Given the description of an element on the screen output the (x, y) to click on. 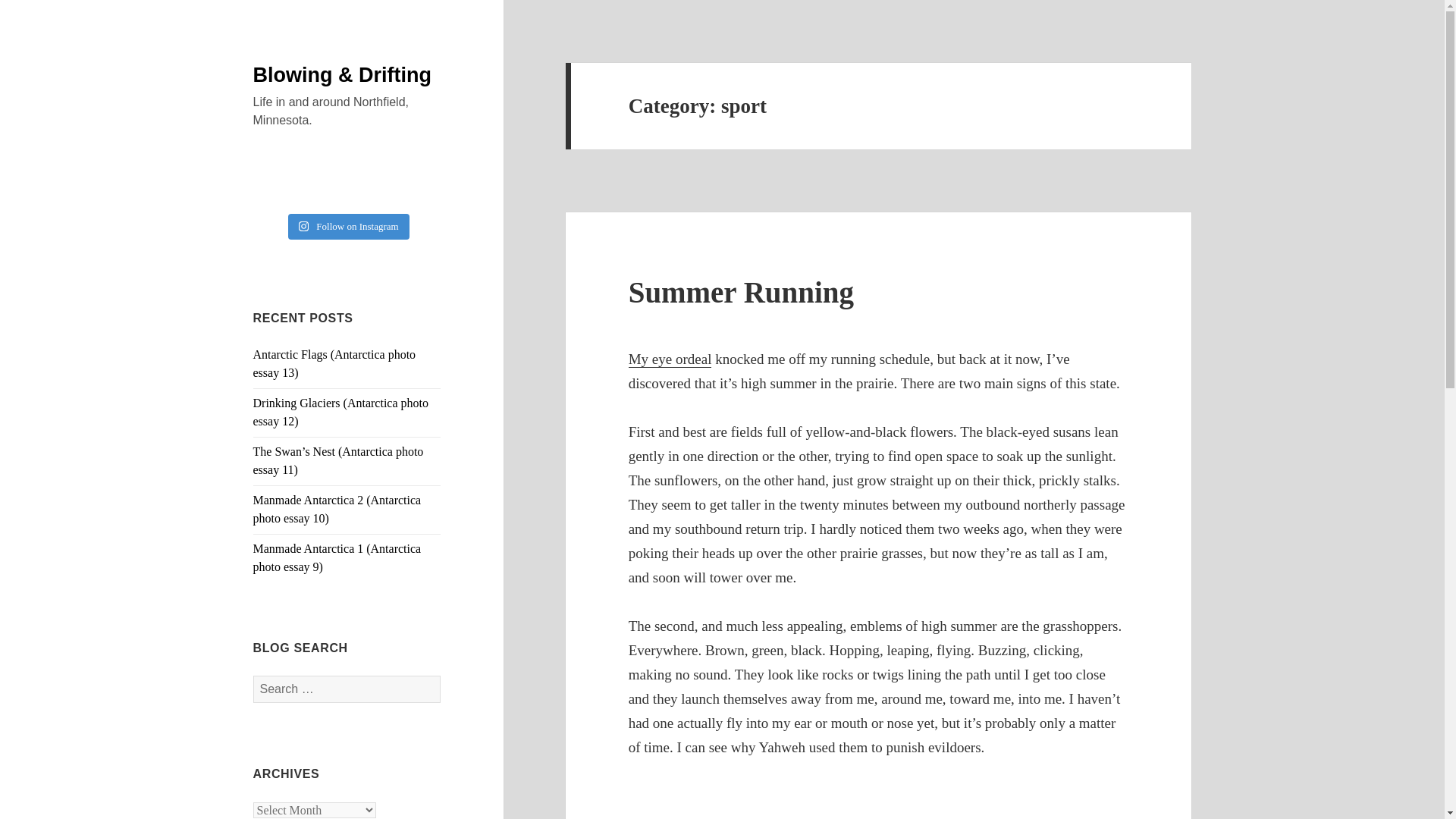
Eye Ordeal (669, 359)
Follow on Instagram (348, 226)
My eye ordeal (669, 359)
Summer Running (740, 292)
